Given the description of an element on the screen output the (x, y) to click on. 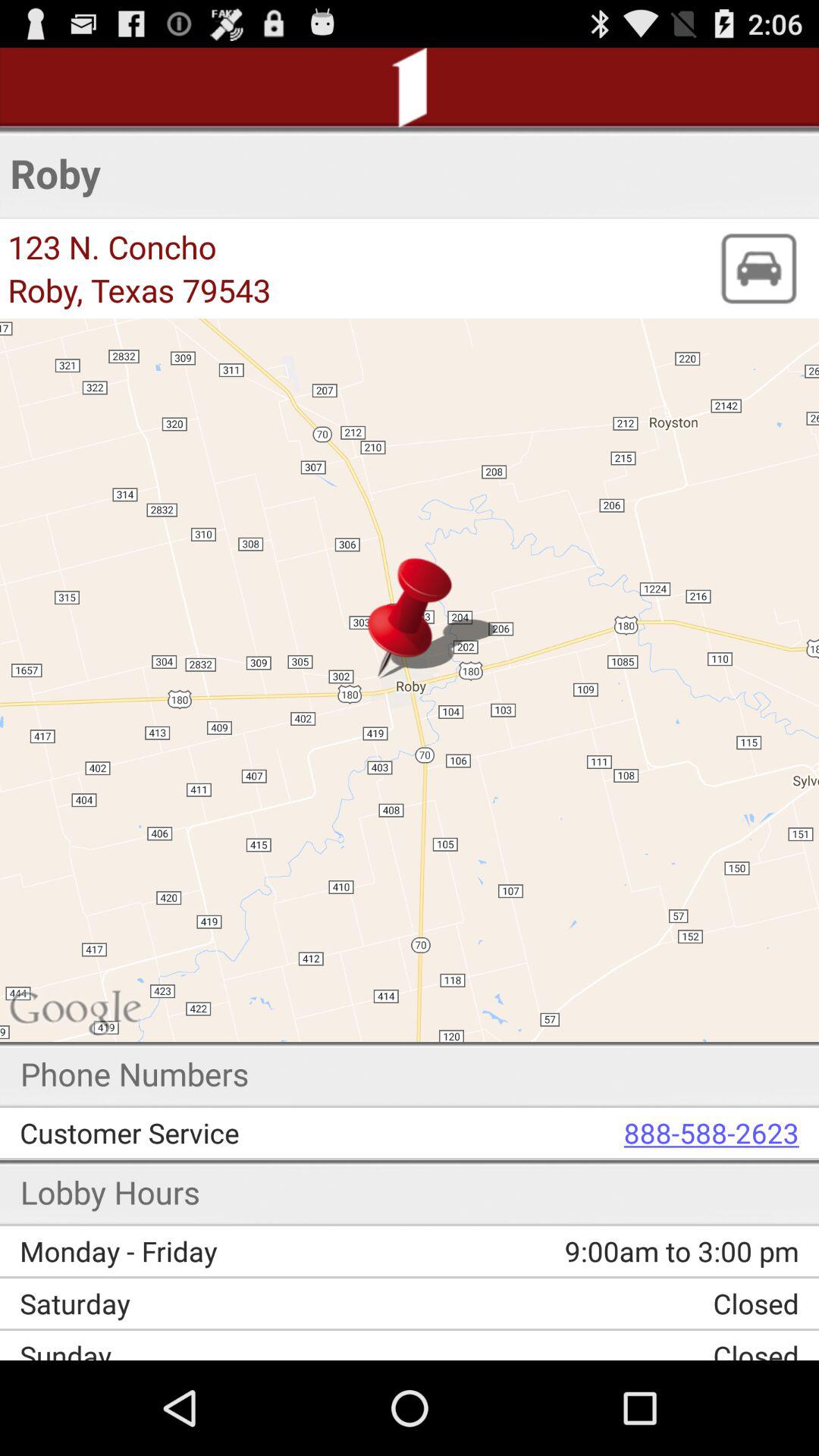
launch item below the customer service (594, 1251)
